Given the description of an element on the screen output the (x, y) to click on. 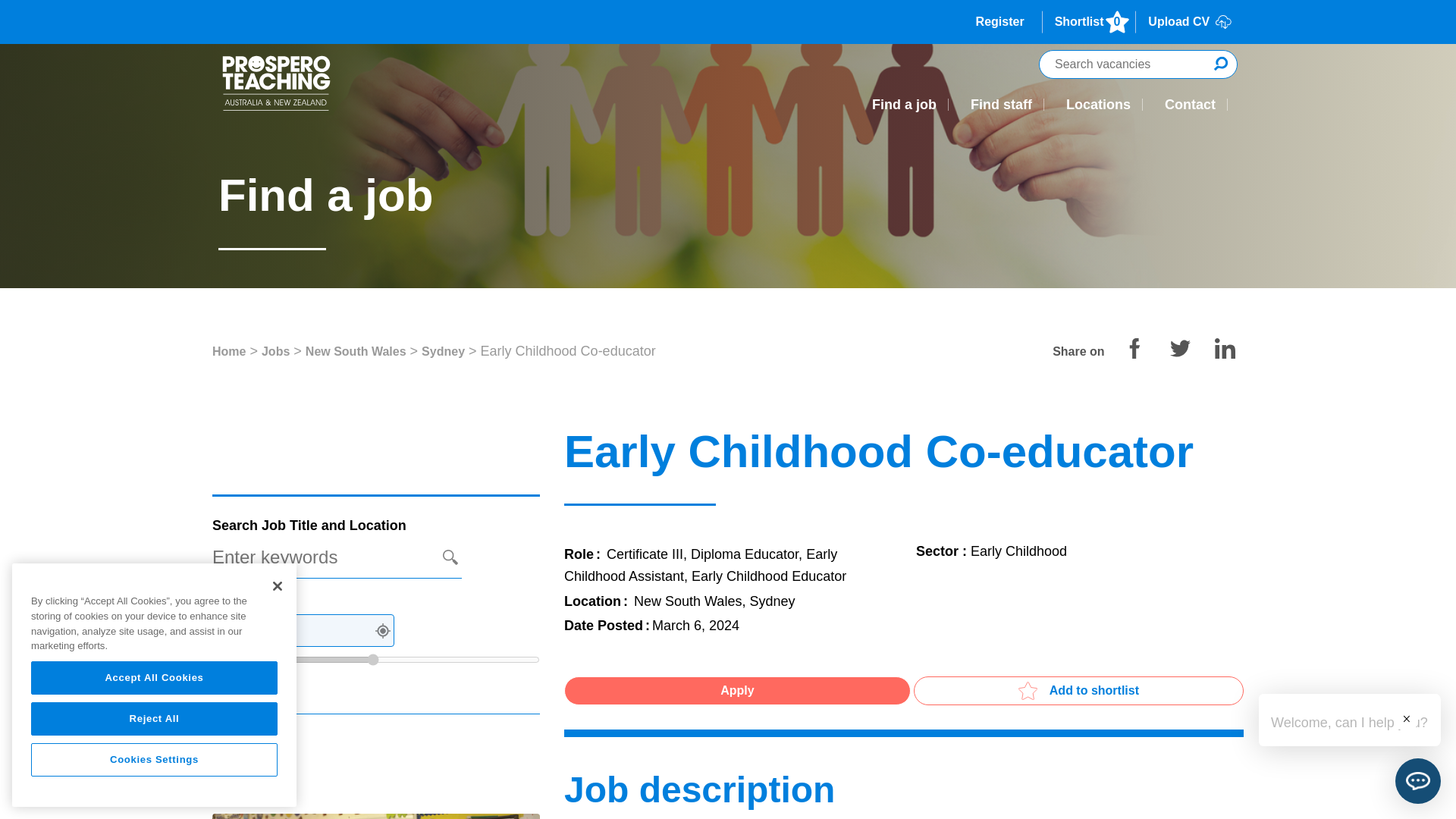
Apply (737, 690)
Find staff (1000, 104)
Sydney (443, 352)
Locations (1098, 104)
Find staff (1000, 104)
Upload CV (1189, 22)
Search (247, 774)
25 (376, 659)
Jobs (275, 352)
shortlist star (1027, 690)
Contact (1190, 104)
Locations (1098, 104)
Find a job (904, 104)
Home (1089, 22)
